Given the description of an element on the screen output the (x, y) to click on. 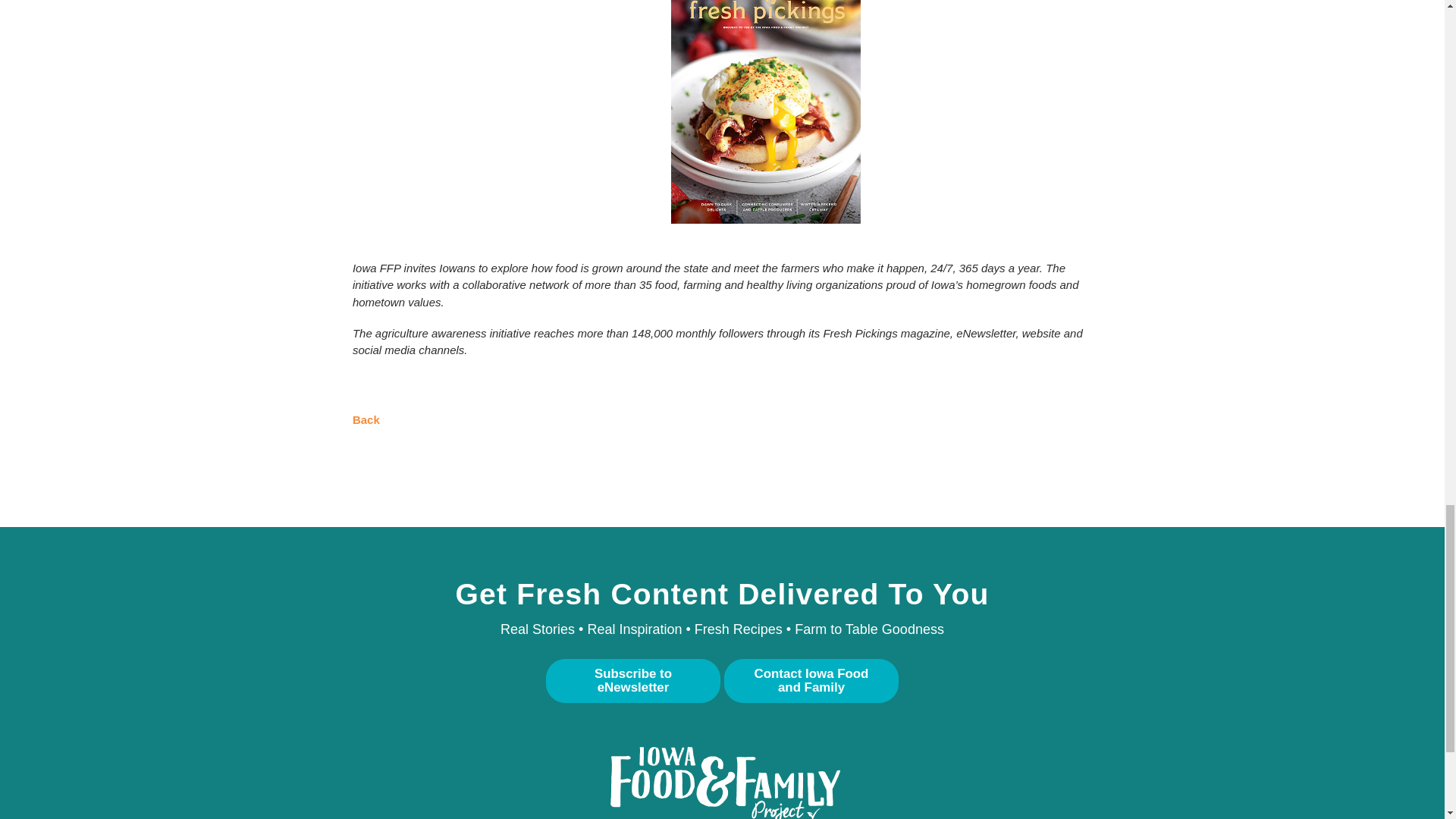
Iowa Food and Family Logo (721, 782)
Contact Iowa Food and Family (810, 680)
Subscribe to eNewsletter (633, 680)
